Given the description of an element on the screen output the (x, y) to click on. 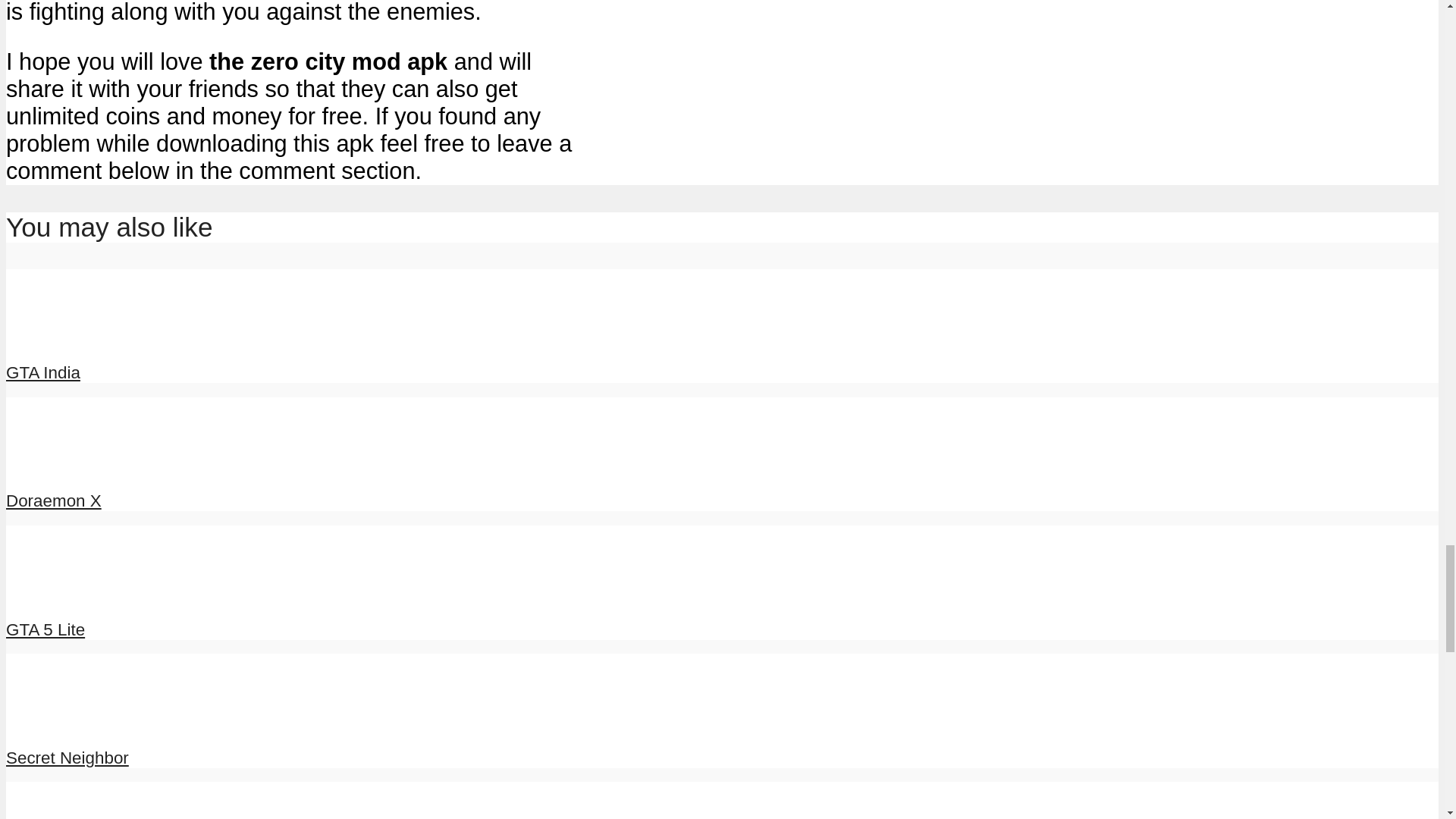
GTA 5 Lite (44, 629)
GTA 5 Lite (60, 594)
Doraemon X (53, 500)
GTA India (42, 372)
GTA 5 Lite (44, 629)
Secret Neighbor (60, 722)
GTA India (60, 337)
Secret Neighbor (67, 757)
Doraemon X (53, 500)
GTA India (42, 372)
Doraemon X (49, 465)
Secret Neighbor (67, 757)
